Given the description of an element on the screen output the (x, y) to click on. 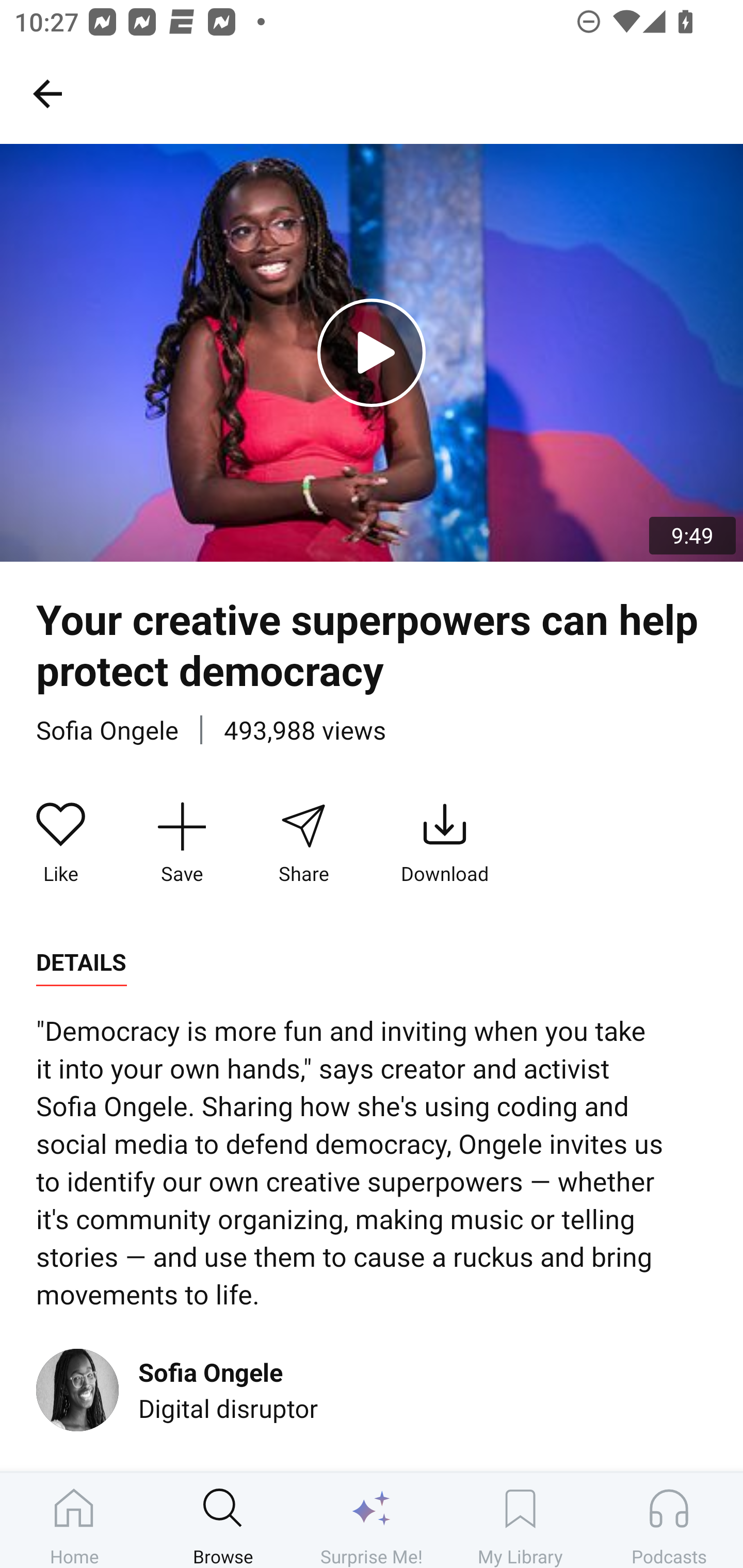
Go back (47, 92)
Like (60, 843)
Save (181, 843)
Share (302, 843)
Download (444, 843)
DETAILS (80, 962)
Home (74, 1520)
Browse (222, 1520)
Surprise Me! (371, 1520)
My Library (519, 1520)
Podcasts (668, 1520)
